Given the description of an element on the screen output the (x, y) to click on. 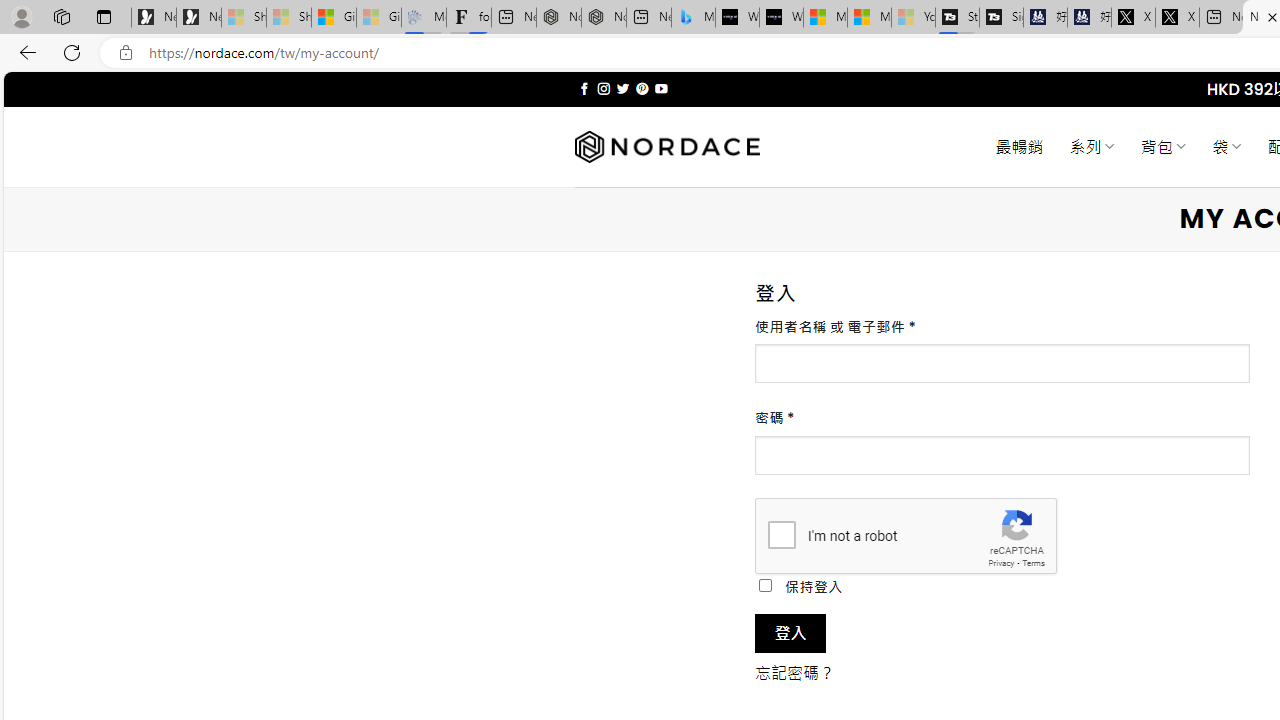
Follow on Instagram (603, 88)
Follow on YouTube (661, 88)
What's the best AI voice generator? - voice.ai (781, 17)
Follow on Twitter (621, 88)
